Given the description of an element on the screen output the (x, y) to click on. 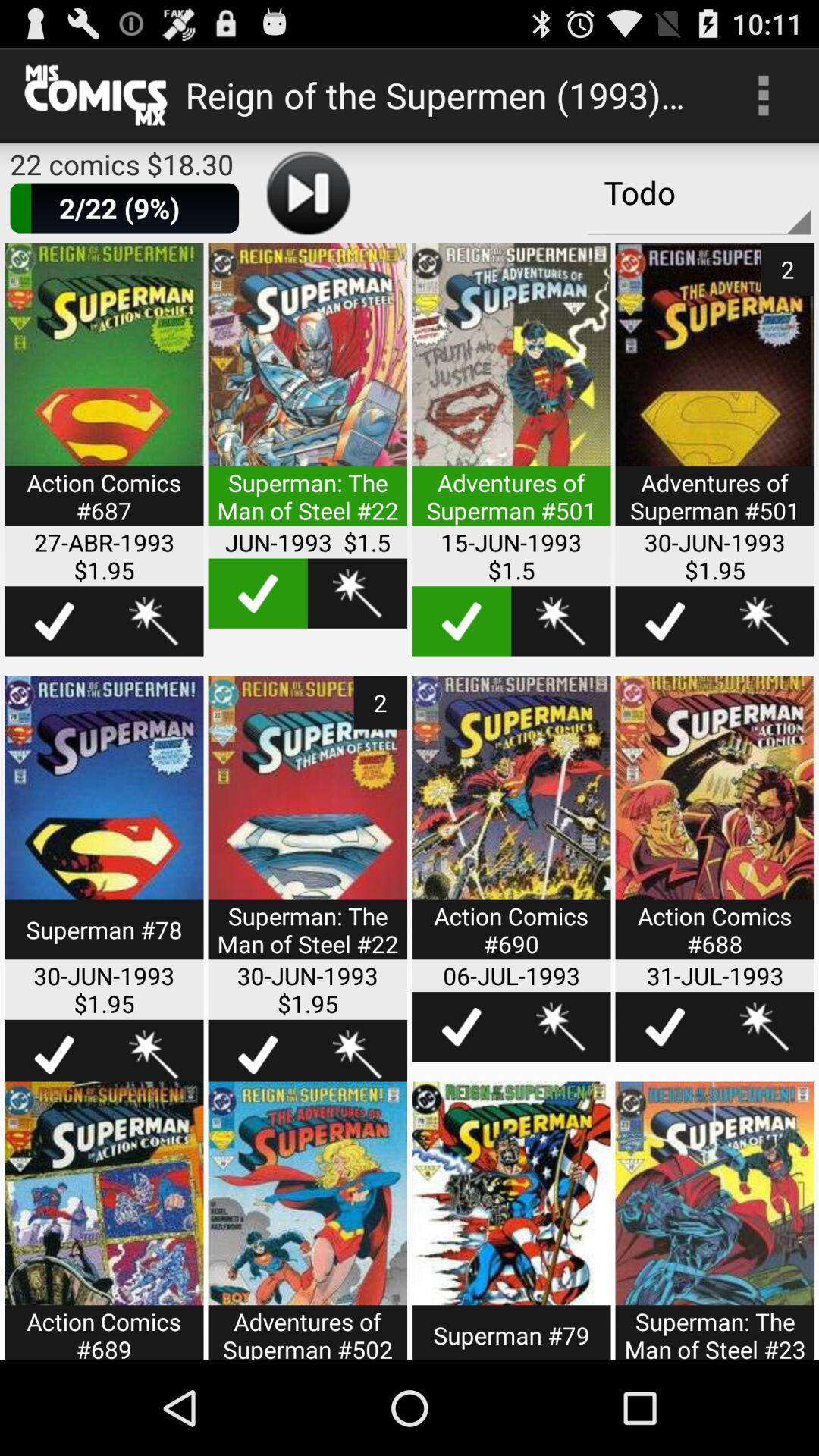
open selection (510, 393)
